Given the description of an element on the screen output the (x, y) to click on. 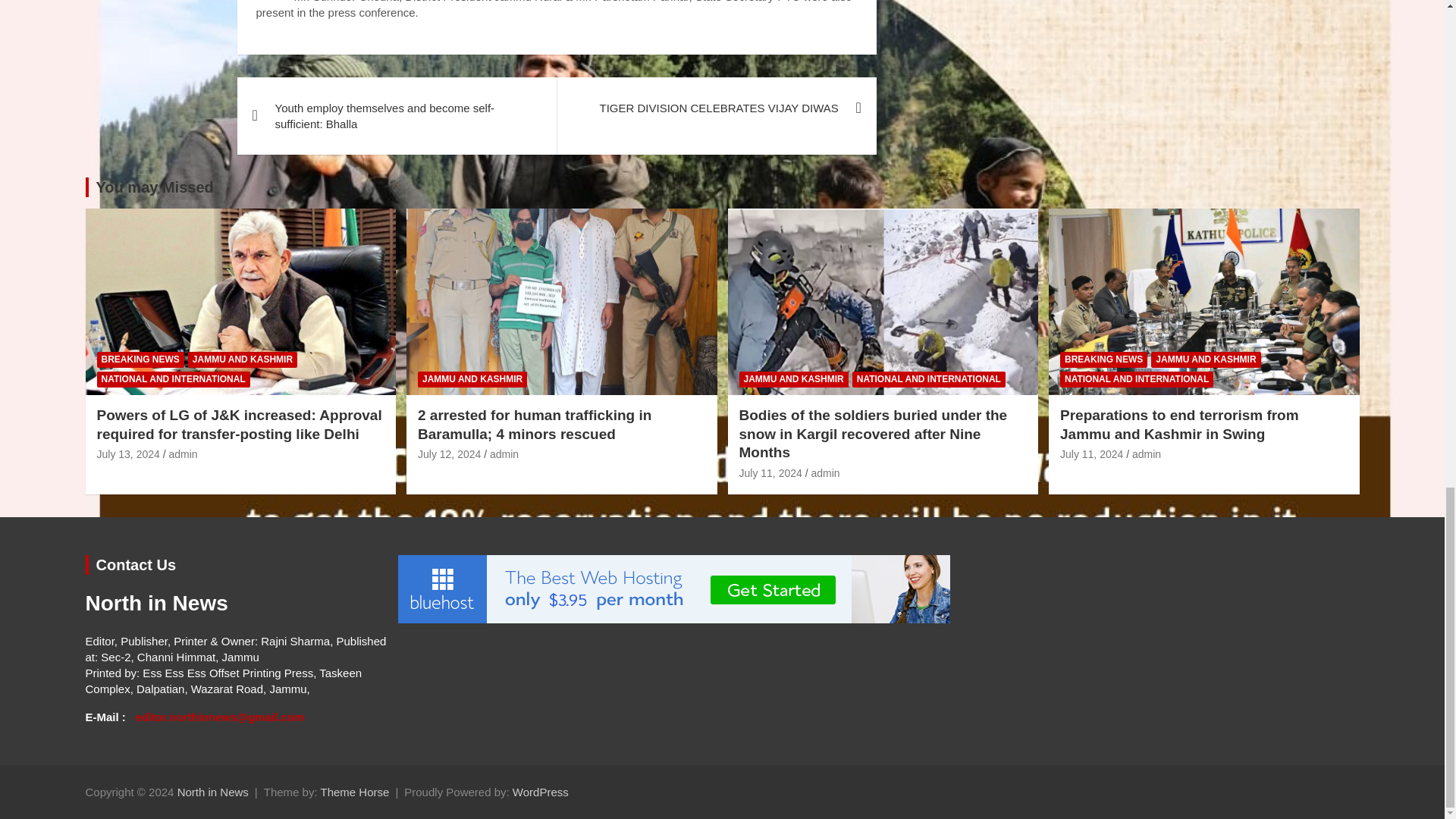
JAMMU AND KASHMIR (242, 359)
July 13, 2024 (128, 453)
BREAKING NEWS (140, 359)
You may Missed (154, 187)
TIGER DIVISION CELEBRATES VIJAY DIWAS (716, 107)
Youth employ themselves and become self-sufficient: Bhalla (395, 115)
WordPress (540, 791)
admin (182, 453)
North in News (212, 791)
Theme Horse (354, 791)
NATIONAL AND INTERNATIONAL (173, 379)
